Given the description of an element on the screen output the (x, y) to click on. 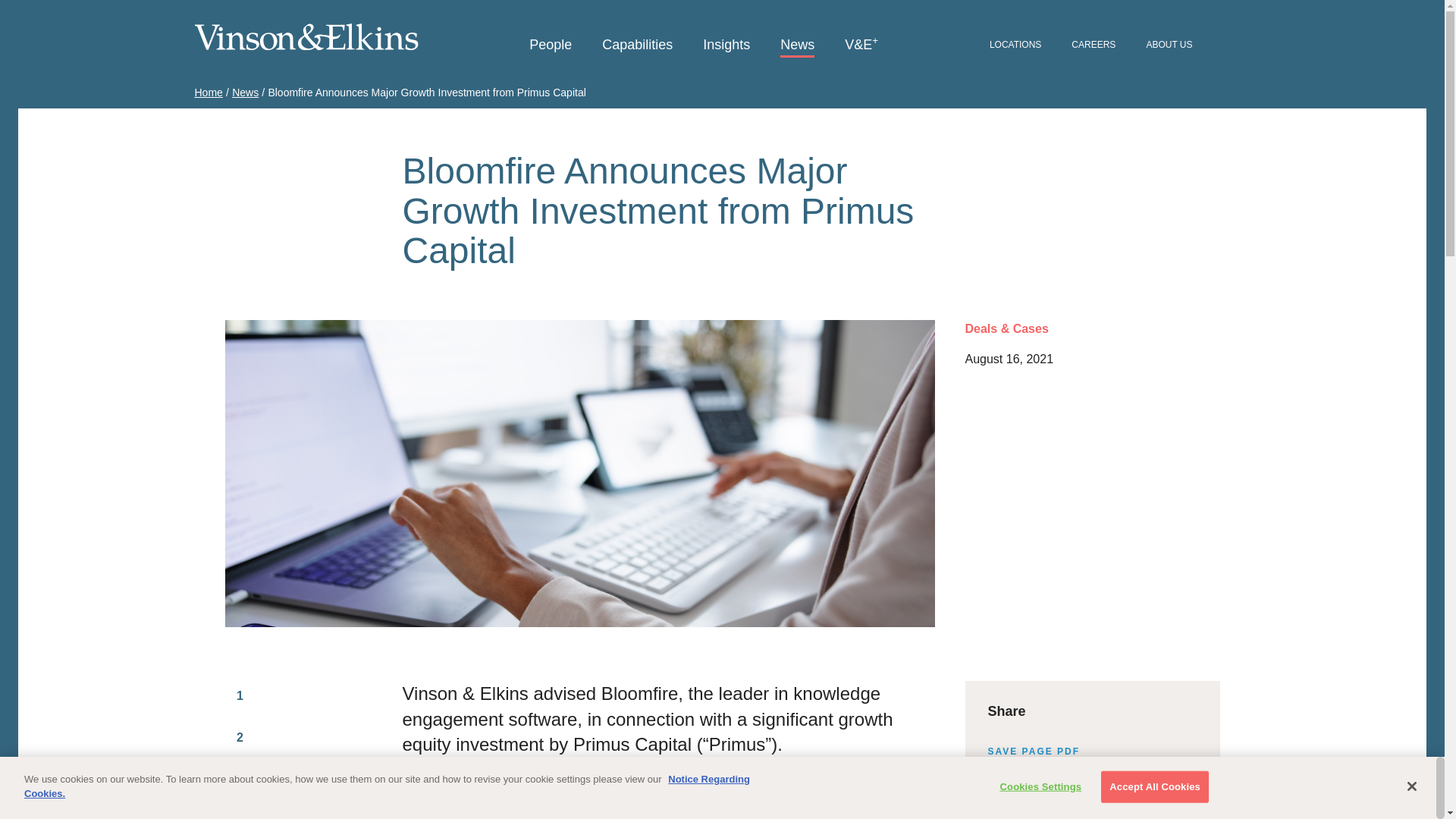
CAREERS (1093, 45)
People (550, 45)
News (245, 92)
ABOUT US (1168, 45)
News (796, 45)
2 (239, 737)
Insights (726, 45)
1 (239, 695)
3 (239, 779)
Home (207, 92)
LOCATIONS (1015, 45)
Capabilities (637, 45)
